Given the description of an element on the screen output the (x, y) to click on. 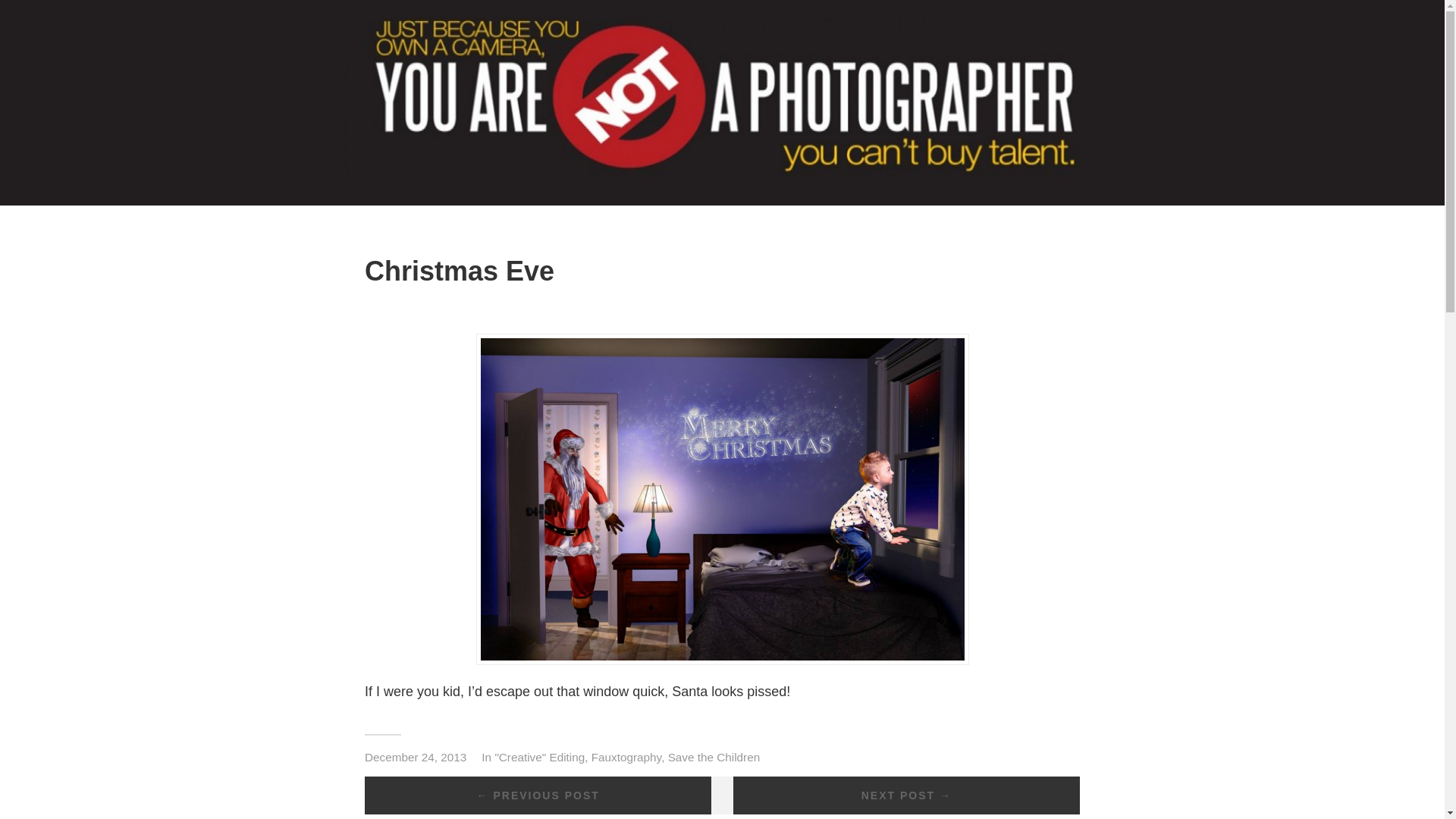
Previous post: Blur Belly Dog Shot (538, 795)
You Are Not A Photographer (721, 196)
Next post: Handy Stocking Stuffer (906, 795)
Fauxtography (626, 757)
Save the Children (714, 757)
"Creative" Editing (540, 757)
December 24, 2013 (415, 757)
